Given the description of an element on the screen output the (x, y) to click on. 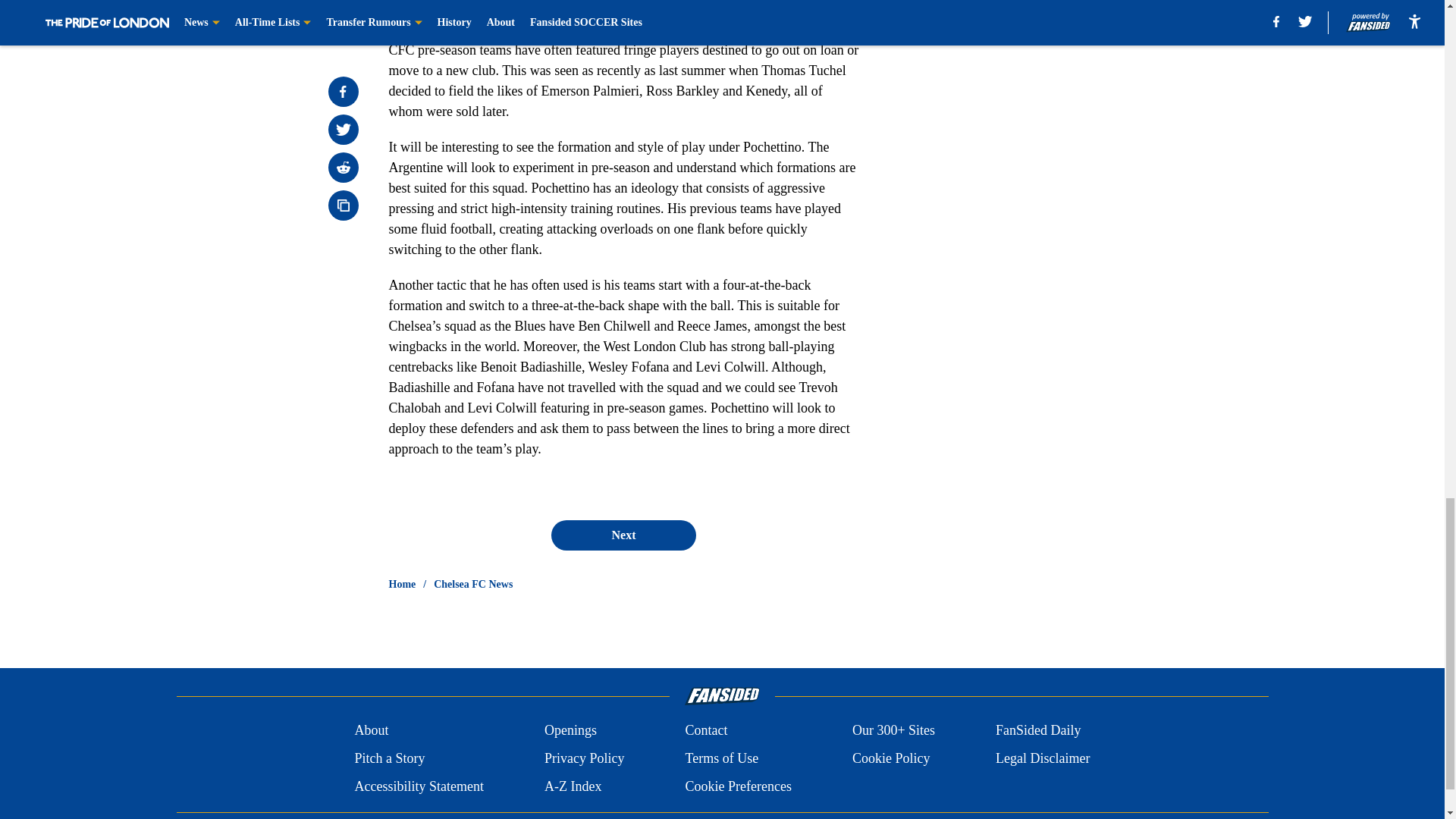
Home (401, 584)
Next (622, 535)
Chelsea FC News (472, 584)
